Given the description of an element on the screen output the (x, y) to click on. 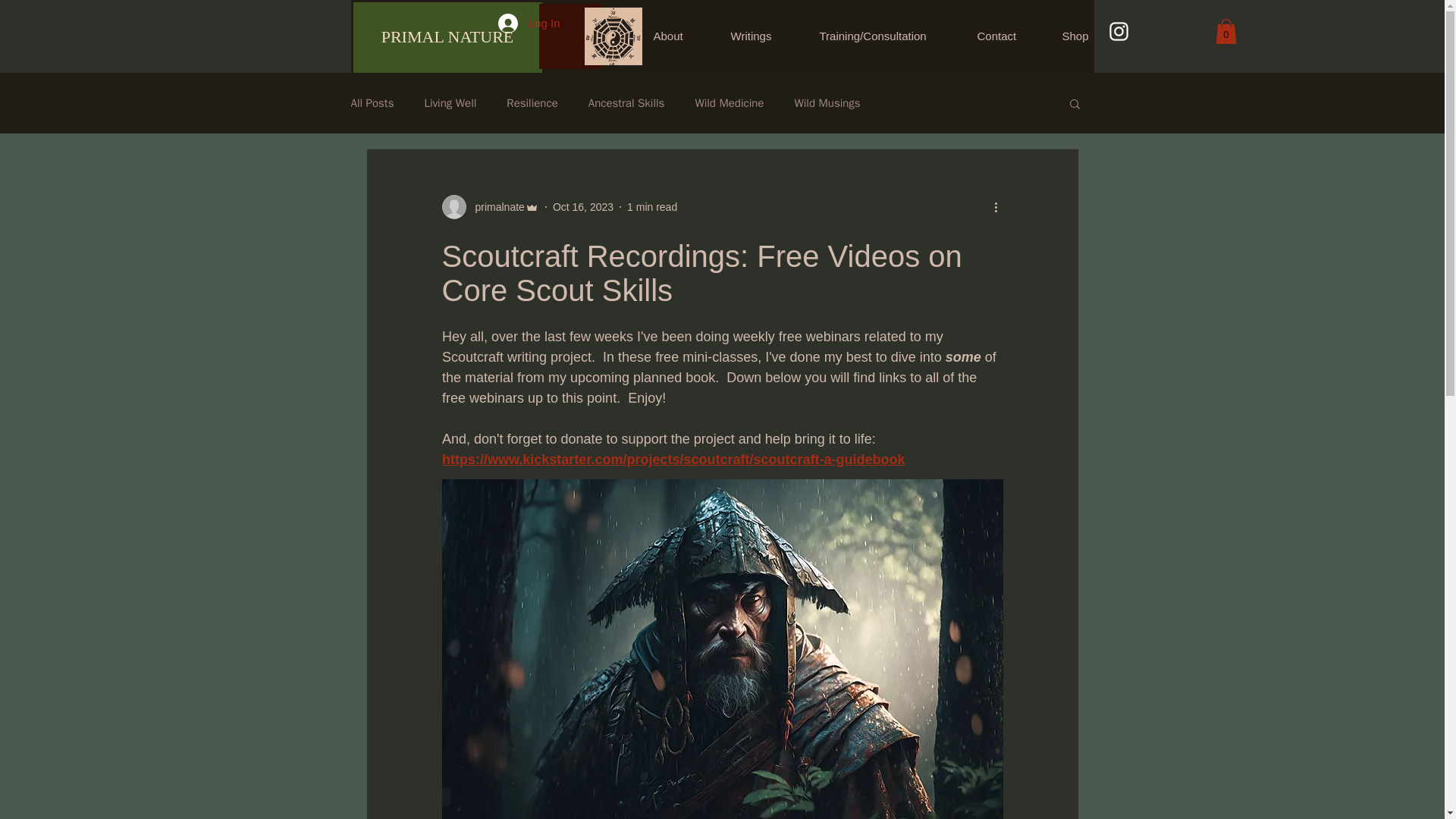
Wild Medicine (728, 103)
1 min read (652, 206)
0 (1225, 31)
Log In (528, 23)
Shop (1086, 36)
primalnate (494, 207)
Ancestral Skills (626, 103)
Contact (1008, 36)
All Posts (371, 103)
About (680, 36)
Oct 16, 2023 (582, 206)
primalnate (489, 206)
PRIMAL NATURE (447, 37)
Wild Musings (826, 103)
Living Well (449, 103)
